Given the description of an element on the screen output the (x, y) to click on. 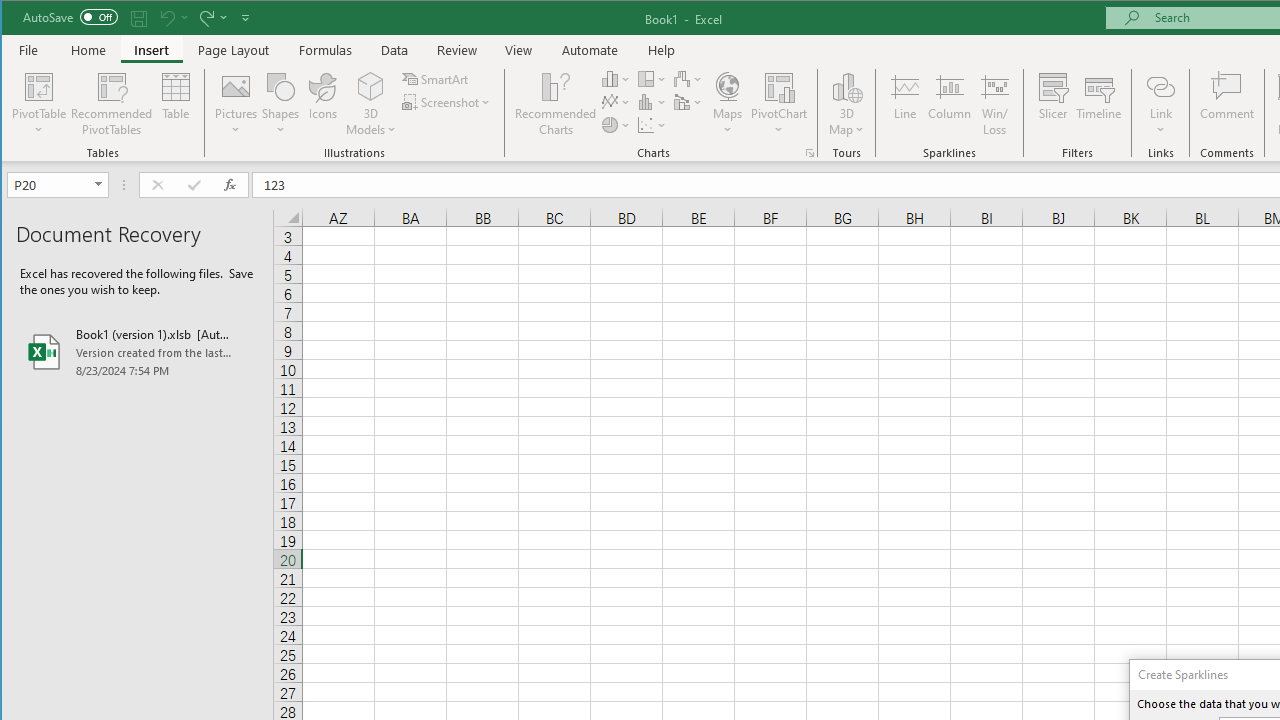
Column (949, 104)
Insert Statistic Chart (652, 101)
Link (1160, 86)
Insert Pie or Doughnut Chart (616, 124)
Recommended Charts (809, 152)
PivotTable (39, 104)
Table (175, 104)
PivotChart (779, 86)
Insert Scatter (X, Y) or Bubble Chart (652, 124)
